Given the description of an element on the screen output the (x, y) to click on. 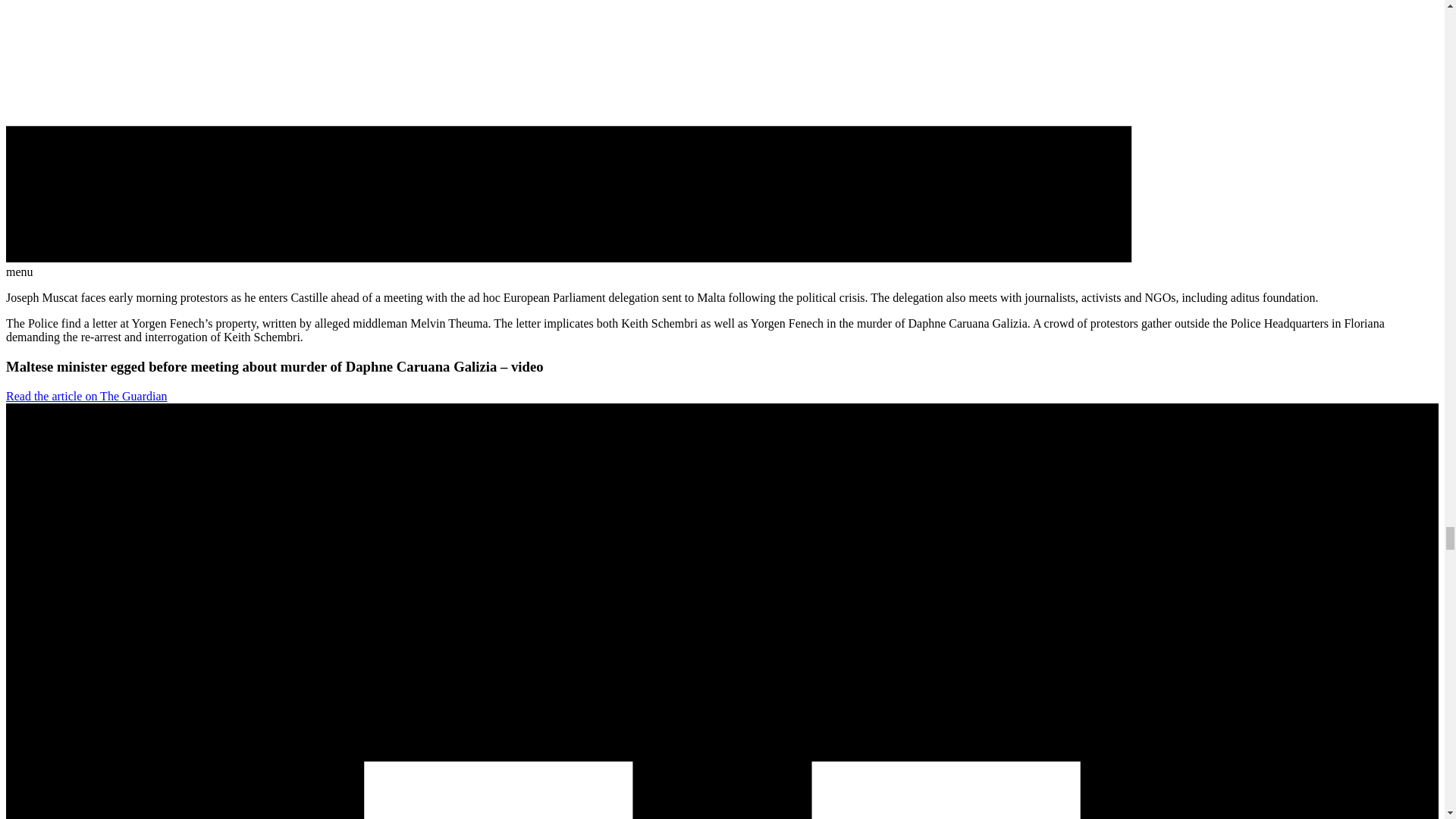
Read the article on The Guardian (86, 395)
